Given the description of an element on the screen output the (x, y) to click on. 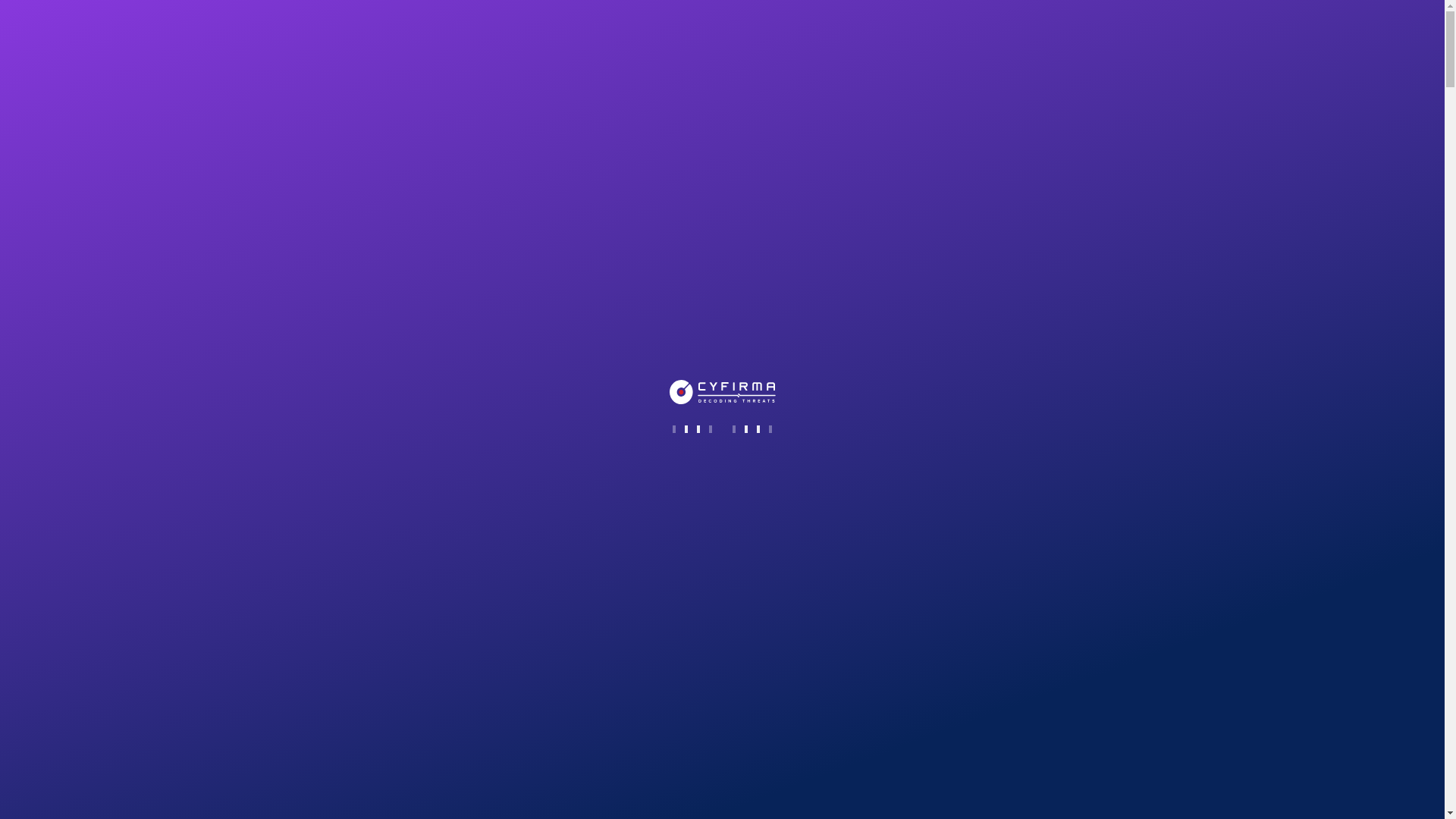
Contact Sales (991, 28)
The Neuro-Center of Cyber Defense (382, 92)
Resources (647, 28)
Get Started (324, 337)
Get Started (324, 700)
Products (509, 28)
Partners (576, 28)
Company (442, 28)
Get Started (1085, 28)
Get Started (324, 519)
